Given the description of an element on the screen output the (x, y) to click on. 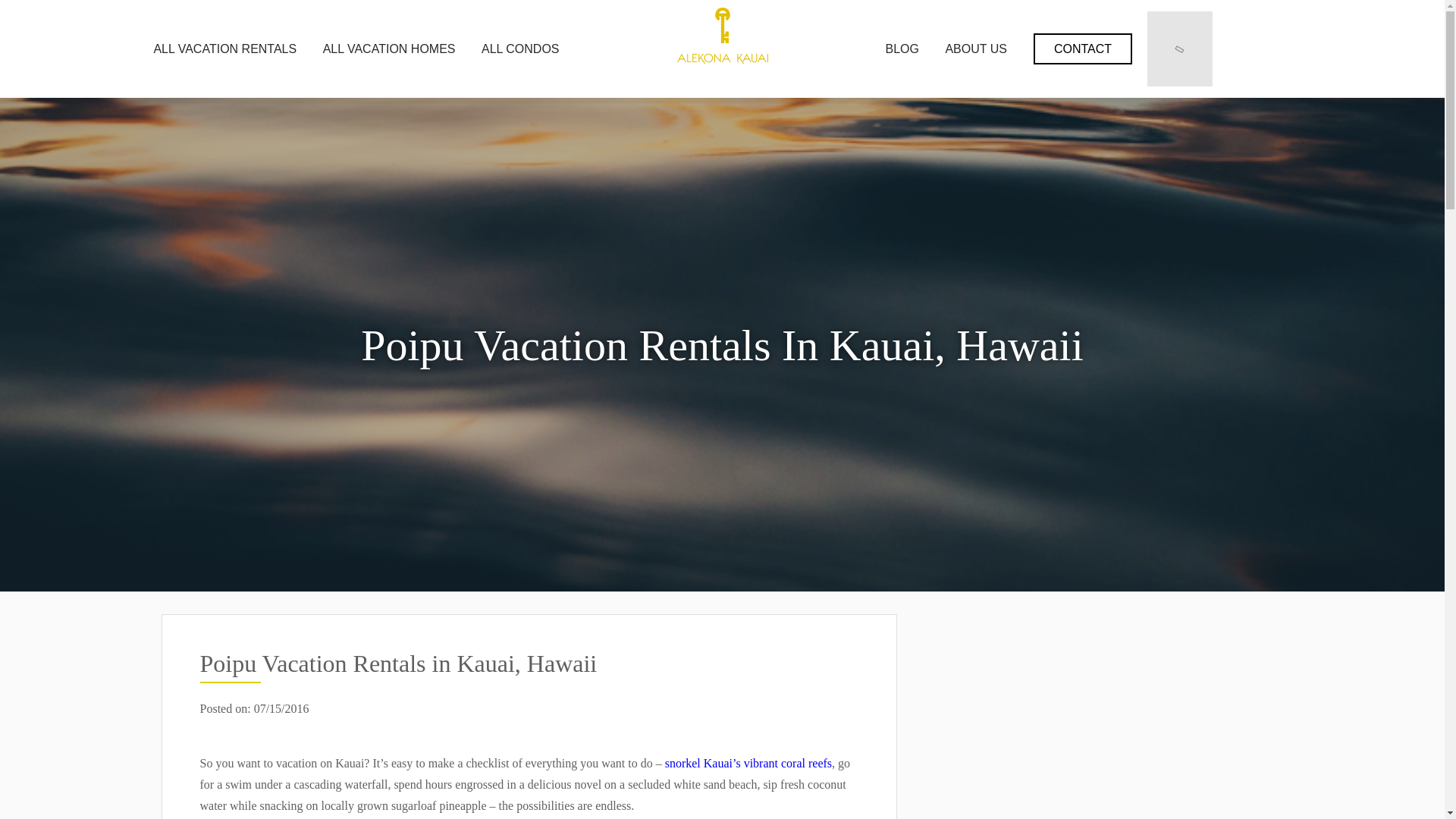
ABOUT US (975, 48)
ALL CONDOS (520, 48)
ALL VACATION HOMES (389, 48)
BLOG (901, 48)
CONTACT (1082, 48)
ALL VACATION RENTALS (224, 48)
